Given the description of an element on the screen output the (x, y) to click on. 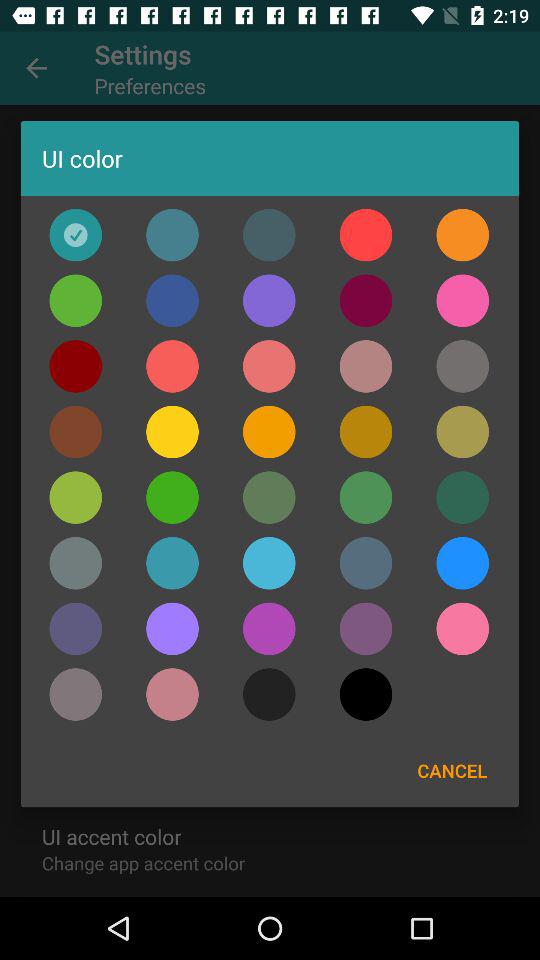
select purple color (172, 628)
